Given the description of an element on the screen output the (x, y) to click on. 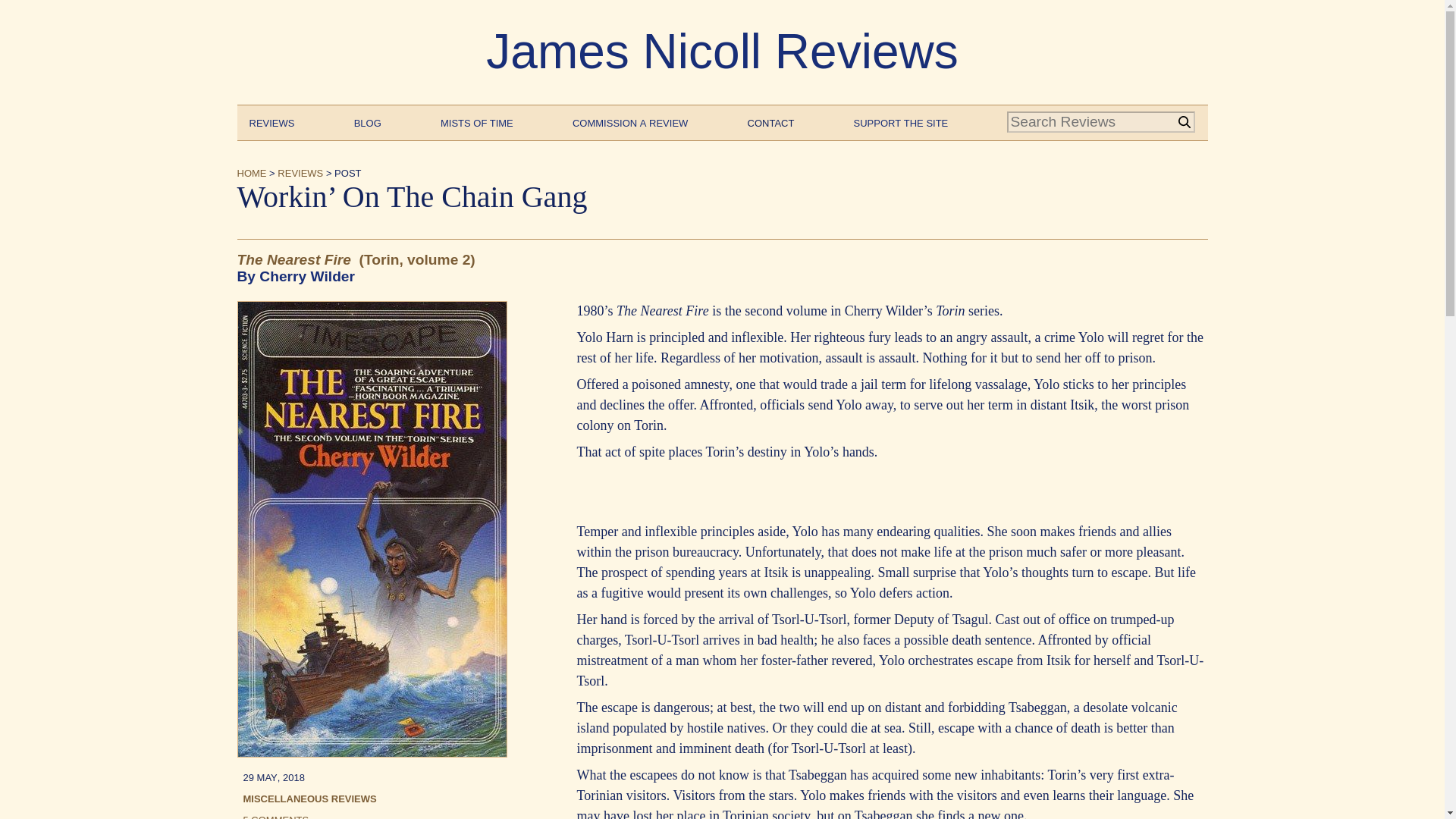
Reviews (300, 171)
Commission a Review (629, 121)
Support the Site (901, 121)
5 comments (275, 815)
James Nicoll Reviews (722, 51)
Reviews (271, 121)
Blog (367, 121)
Home (250, 171)
Mists of Time (477, 121)
Miscellaneous Reviews (309, 797)
